Given the description of an element on the screen output the (x, y) to click on. 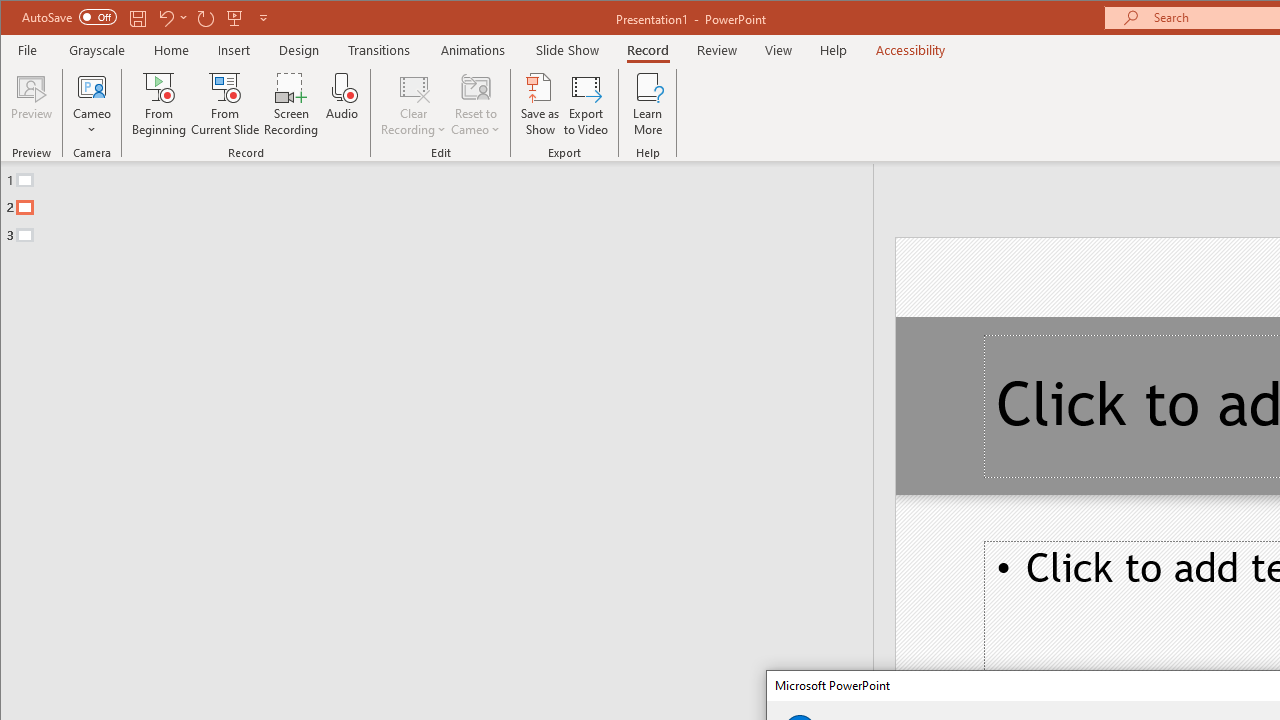
Screen Recording (291, 104)
Learn More (648, 104)
